Given the description of an element on the screen output the (x, y) to click on. 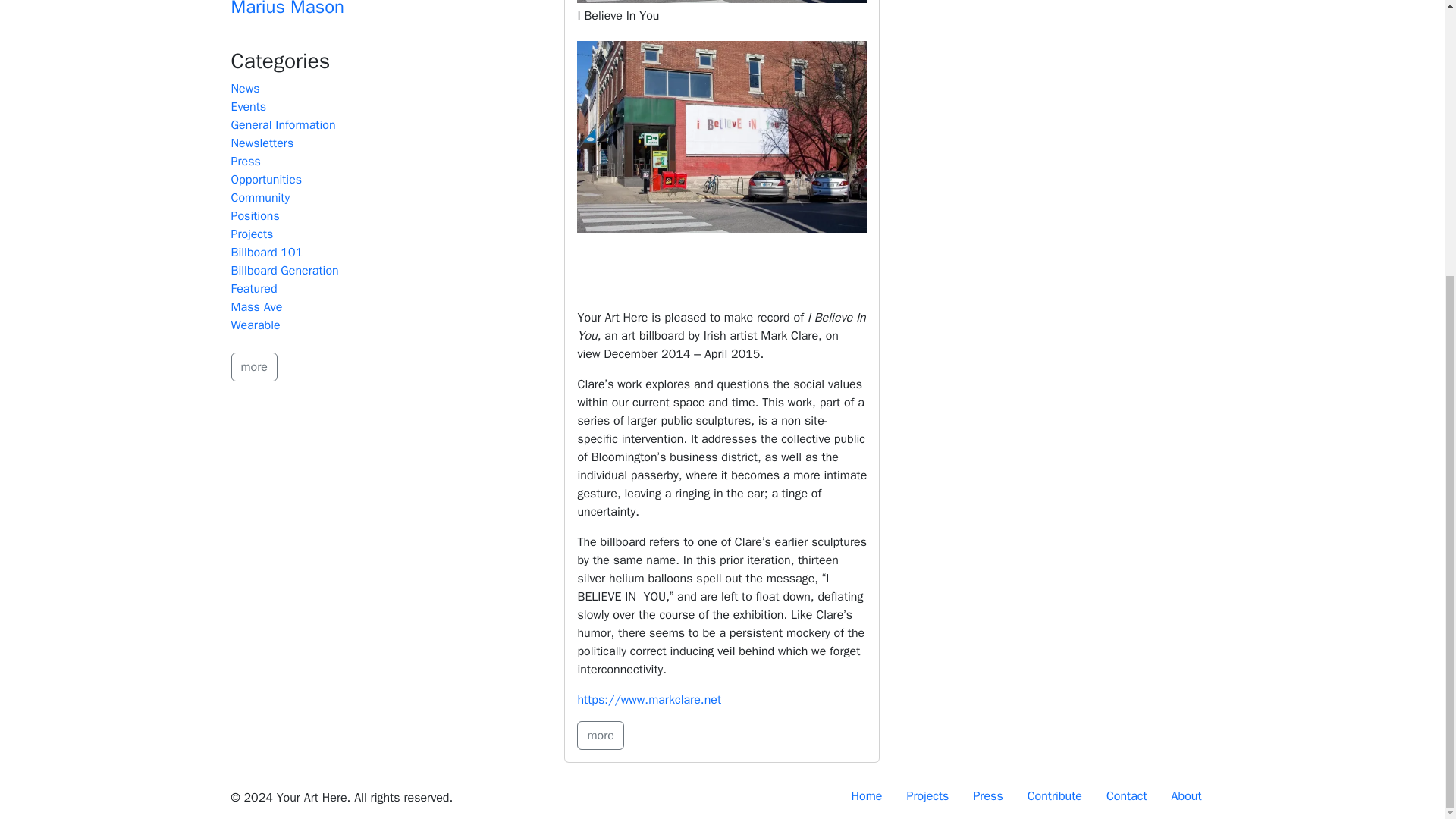
Billboard 101 (266, 252)
Mass Ave (256, 306)
Press (245, 160)
Projects (251, 233)
General Information (282, 124)
Positions (254, 215)
Summer 2018 Billboard: Vaquitas, by Marius Mason (379, 9)
Events (248, 106)
Billboard Generation (283, 270)
more (599, 734)
Community (259, 197)
Opportunities (265, 179)
News (244, 88)
Featured (253, 288)
Newsletters (262, 142)
